Given the description of an element on the screen output the (x, y) to click on. 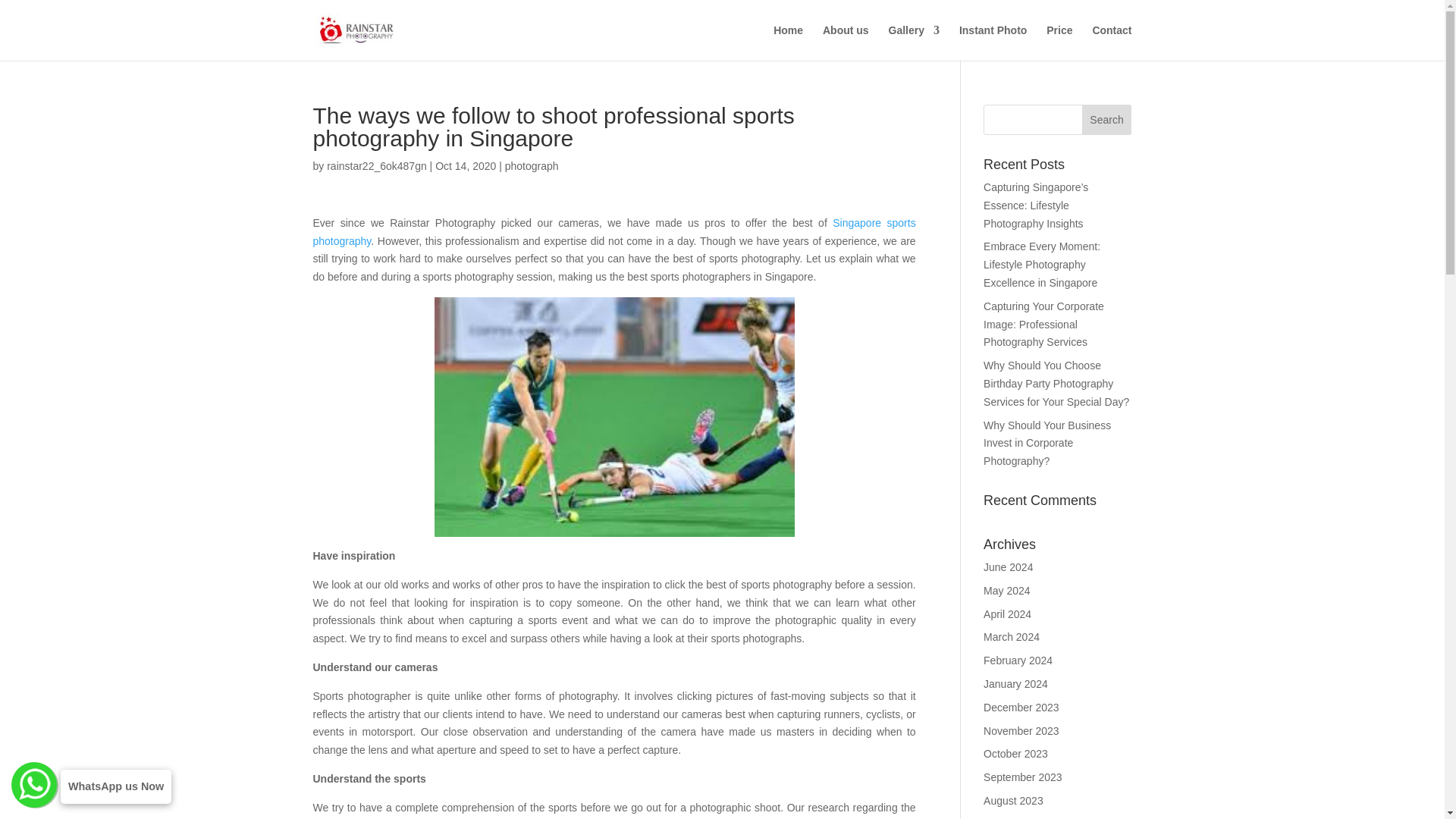
Search (1106, 119)
February 2024 (1018, 660)
Search (1106, 119)
About us (845, 42)
December 2023 (1021, 707)
July 2023 (1006, 818)
Why Should Your Business Invest in Corporate Photography? (1047, 443)
June 2024 (1008, 567)
Contact (1111, 42)
